Given the description of an element on the screen output the (x, y) to click on. 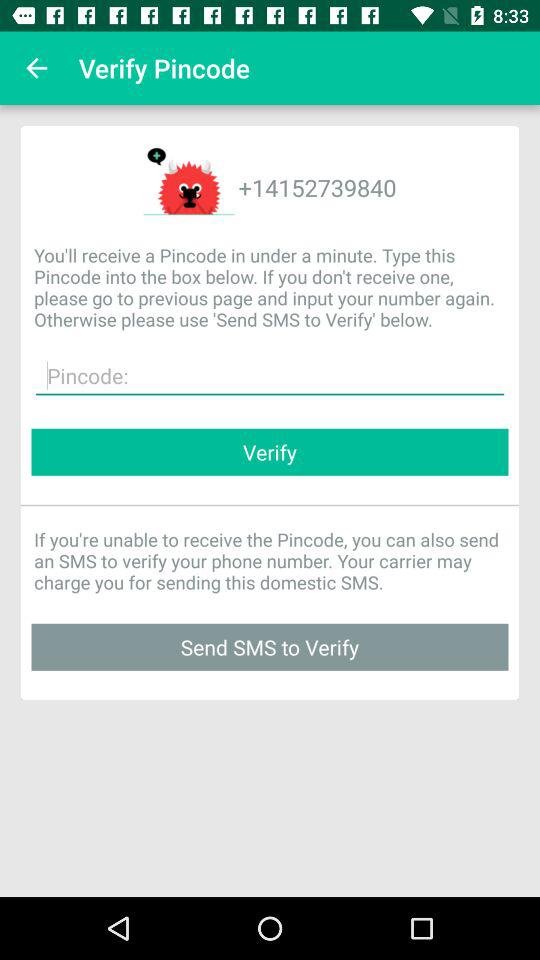
click the icon to the left of the verify pincode icon (36, 68)
